Given the description of an element on the screen output the (x, y) to click on. 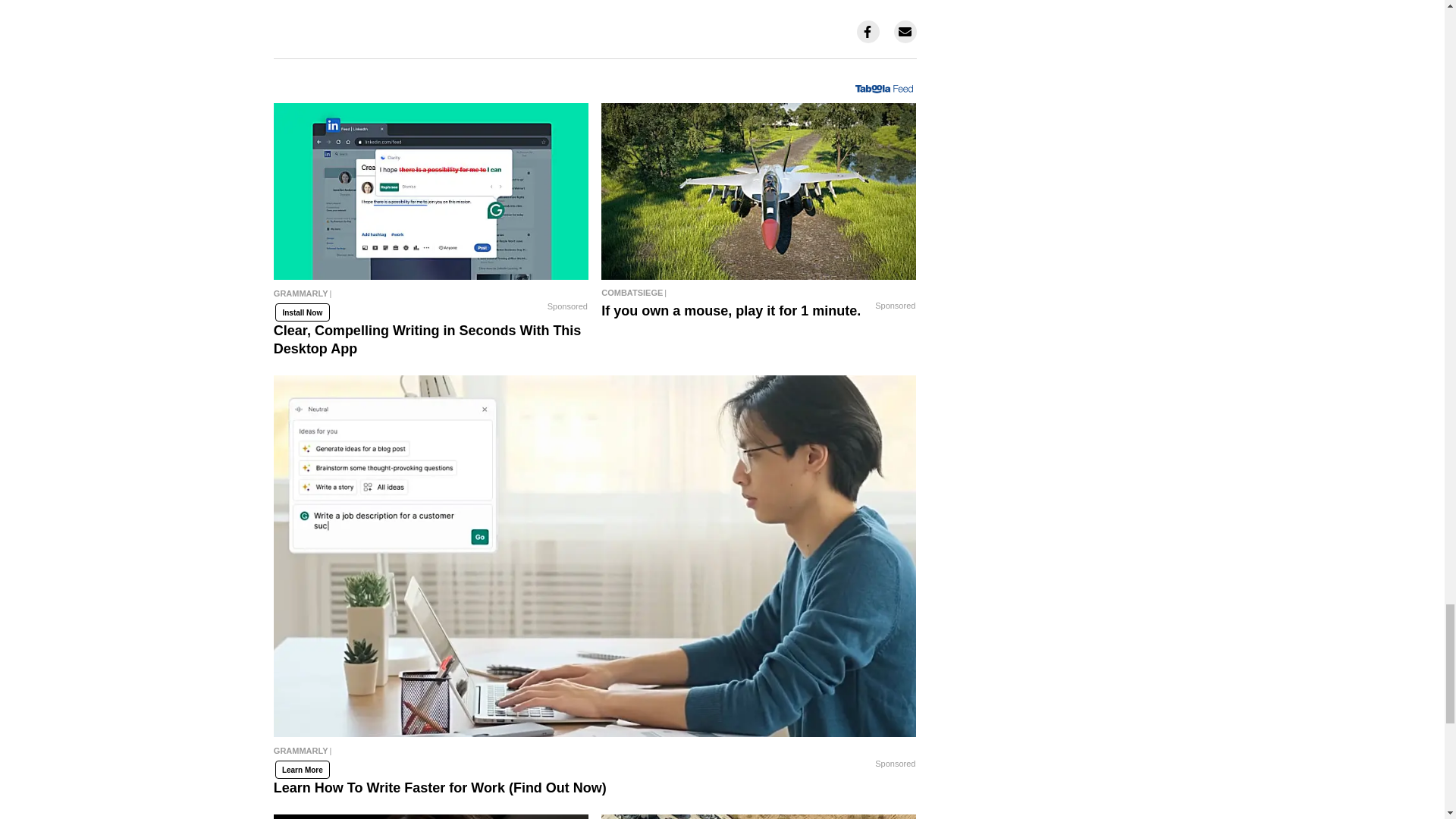
She Wore The Most Gorgeous Outfit Ever Worn By A Royal (430, 816)
Clear, Compelling Writing in Seconds With This Desktop App (430, 297)
Clear, Compelling Writing in Seconds With This Desktop App (430, 191)
If you own a mouse, play it for 1 minute. (758, 191)
If you own a mouse, play it for 1 minute. (758, 292)
